Given the description of an element on the screen output the (x, y) to click on. 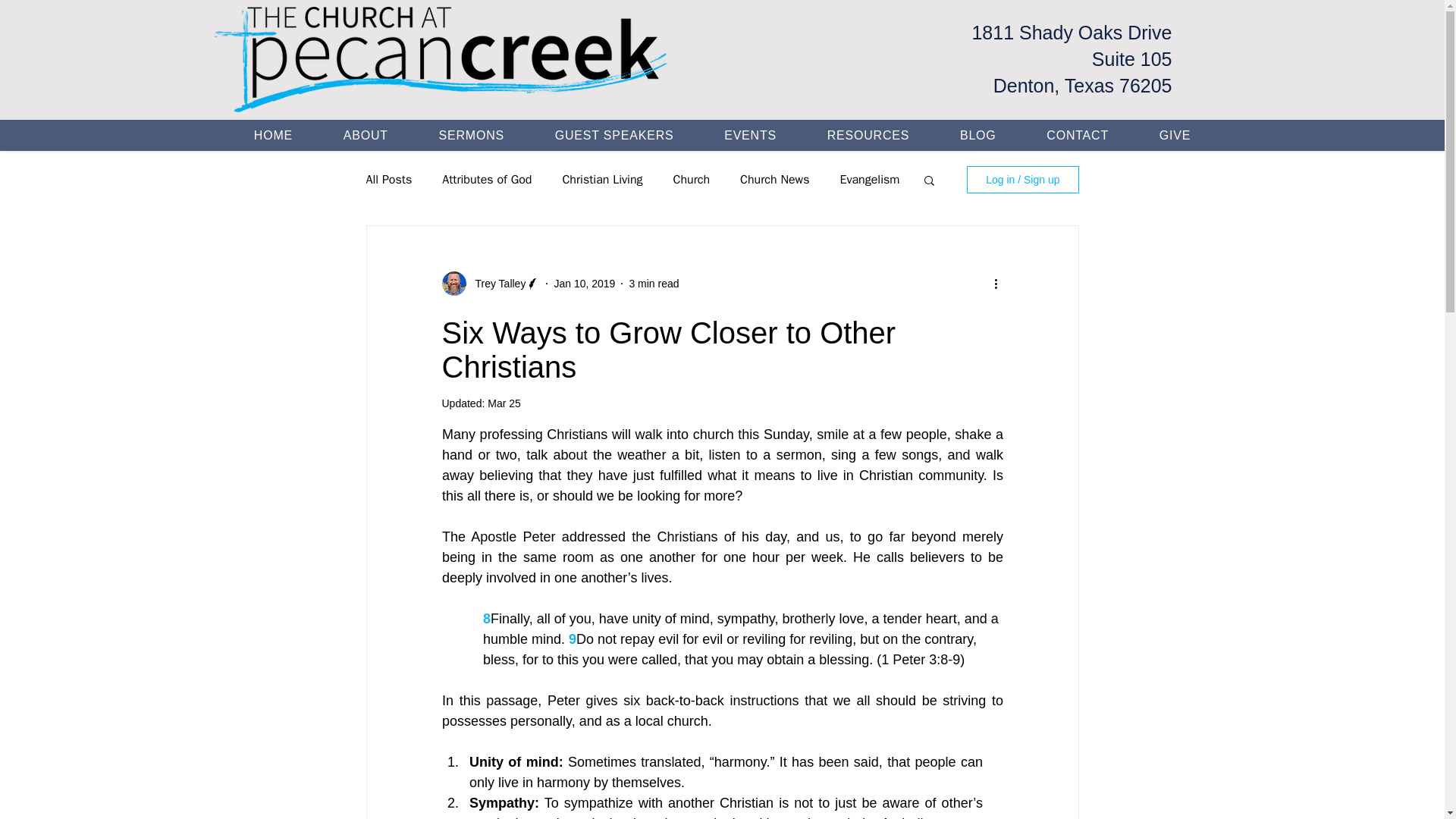
All Posts (388, 179)
HOME (273, 135)
Attributes of God (486, 179)
Jan 10, 2019 (583, 283)
Church News (774, 179)
GIVE (1174, 135)
Evangelism (869, 179)
BLOG (977, 135)
CONTACT (1078, 135)
3 min read (653, 283)
Mar 25 (504, 403)
Trey Talley (495, 283)
Christian Living (602, 179)
Church (691, 179)
GUEST SPEAKERS (613, 135)
